Given the description of an element on the screen output the (x, y) to click on. 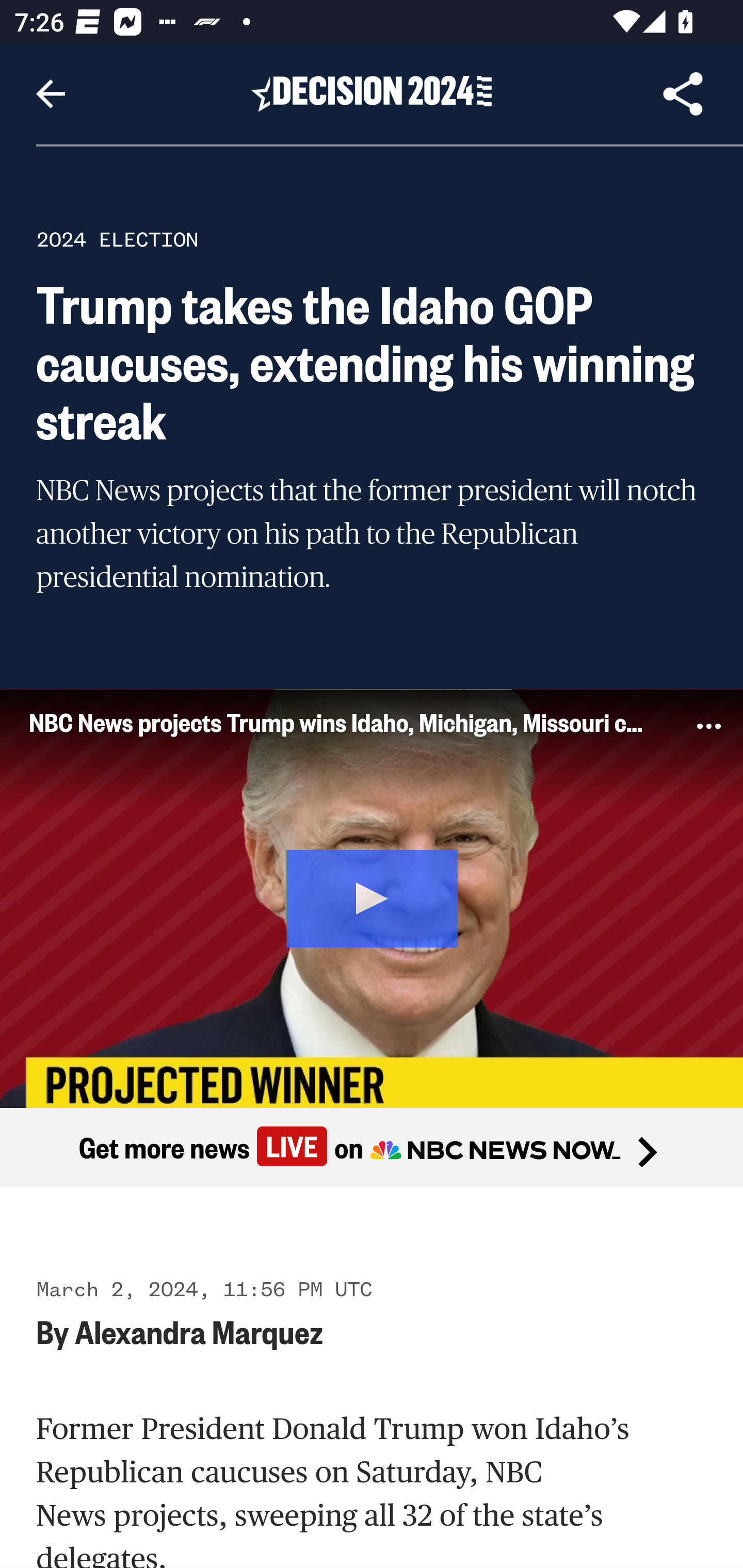
Navigate up (50, 93)
Share Article, button (683, 94)
Header, Decision 2024 (371, 93)
2024 ELECTION (117, 239)
Video Player Unable to play media. Play   (371, 897)
Play (372, 896)
Get more news Live on Get more news Live on (371, 1147)
